Given the description of an element on the screen output the (x, y) to click on. 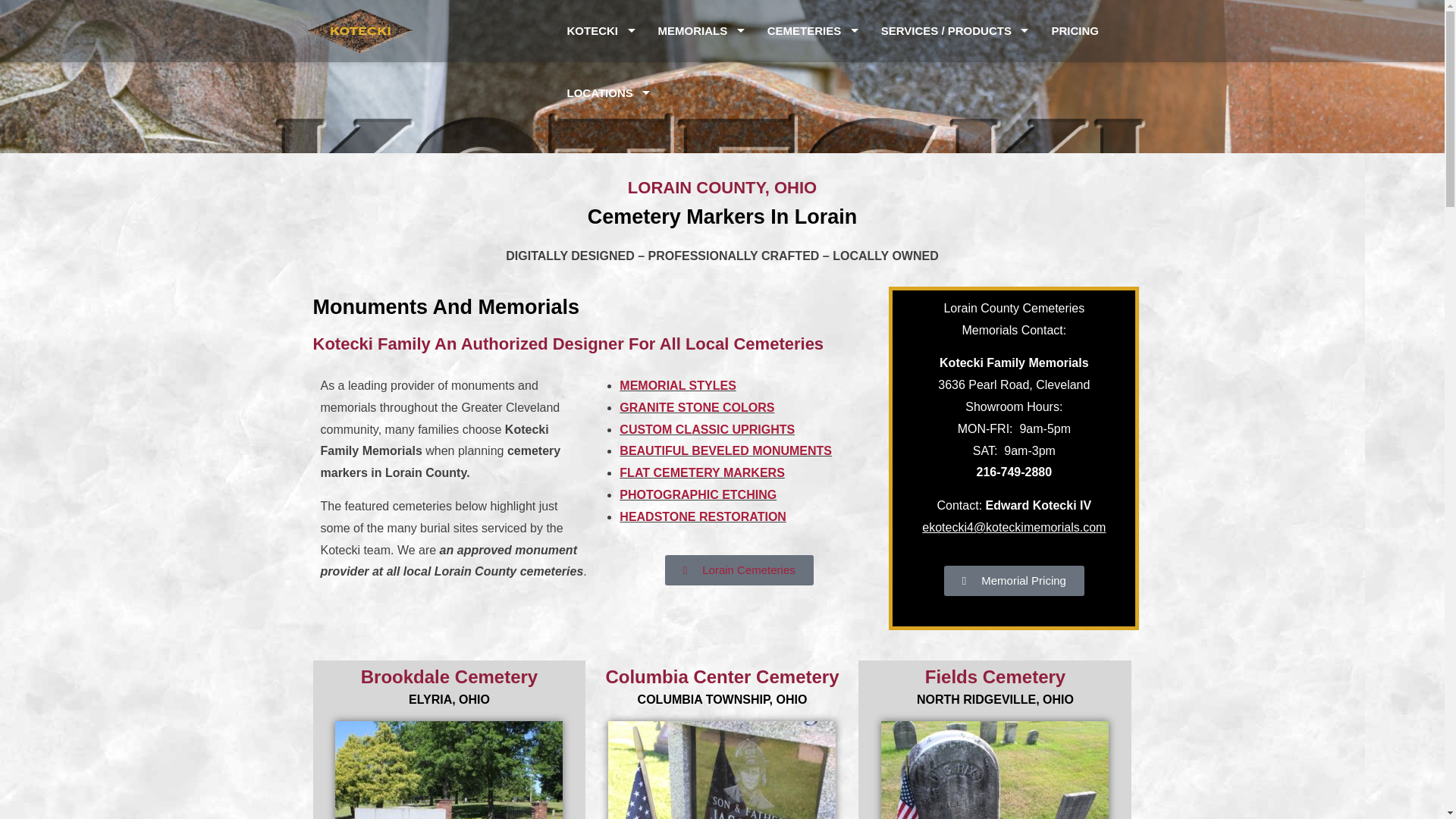
CEMETERIES (812, 31)
MEMORIALS (700, 31)
KOTECKI (600, 31)
